Given the description of an element on the screen output the (x, y) to click on. 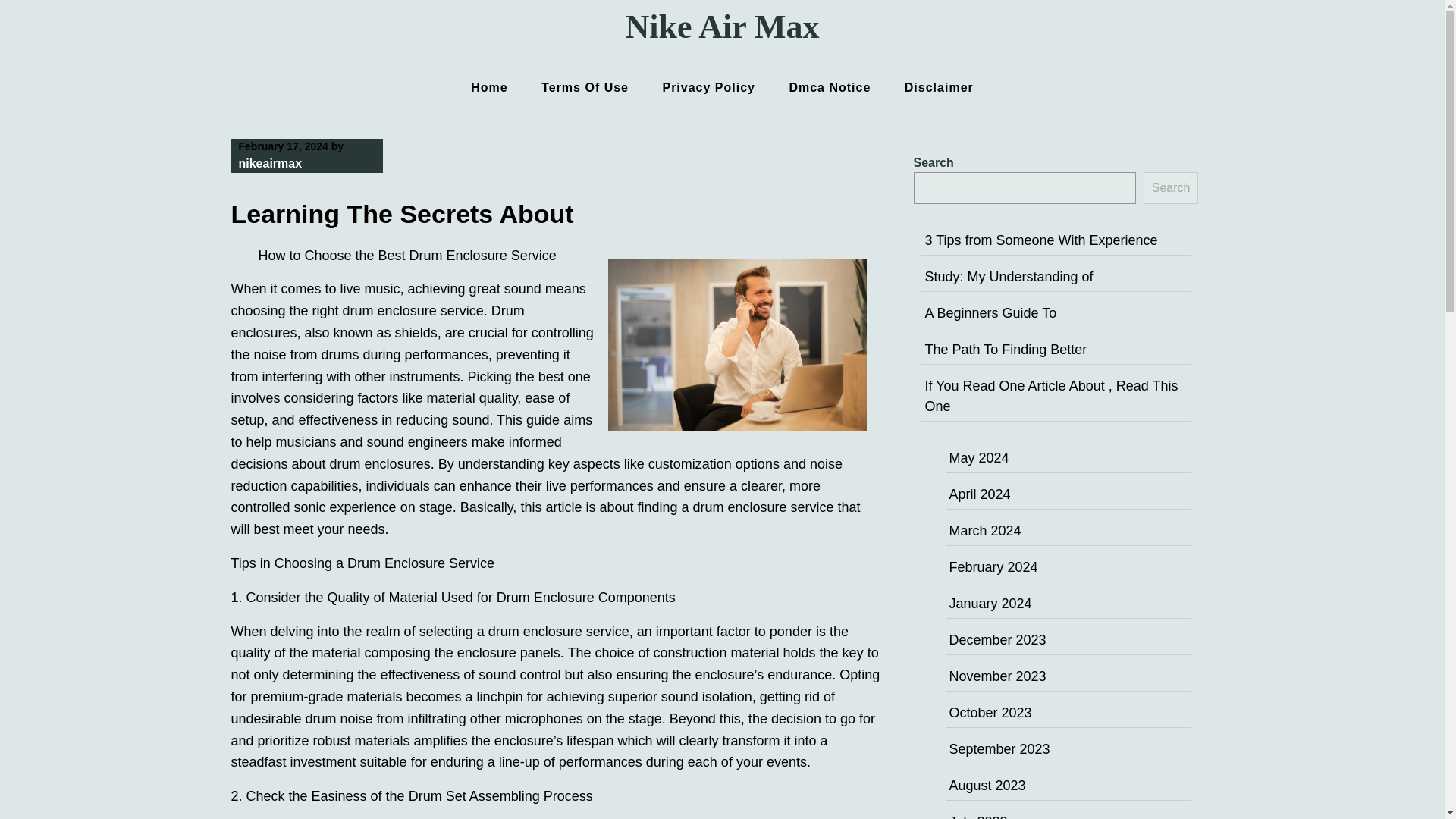
Disclaimer (938, 87)
Nike Air Max (722, 26)
October 2023 (990, 712)
Posts by nikeairmax (269, 163)
If You Read One Article About , Read This One (1050, 396)
Dmca Notice (829, 87)
January 2024 (990, 603)
A Beginners Guide To (990, 313)
December 2023 (997, 639)
Home (488, 87)
Terms Of Use (584, 87)
Privacy Policy (708, 87)
Search (1170, 187)
February 2024 (993, 566)
March 2024 (985, 530)
